Given the description of an element on the screen output the (x, y) to click on. 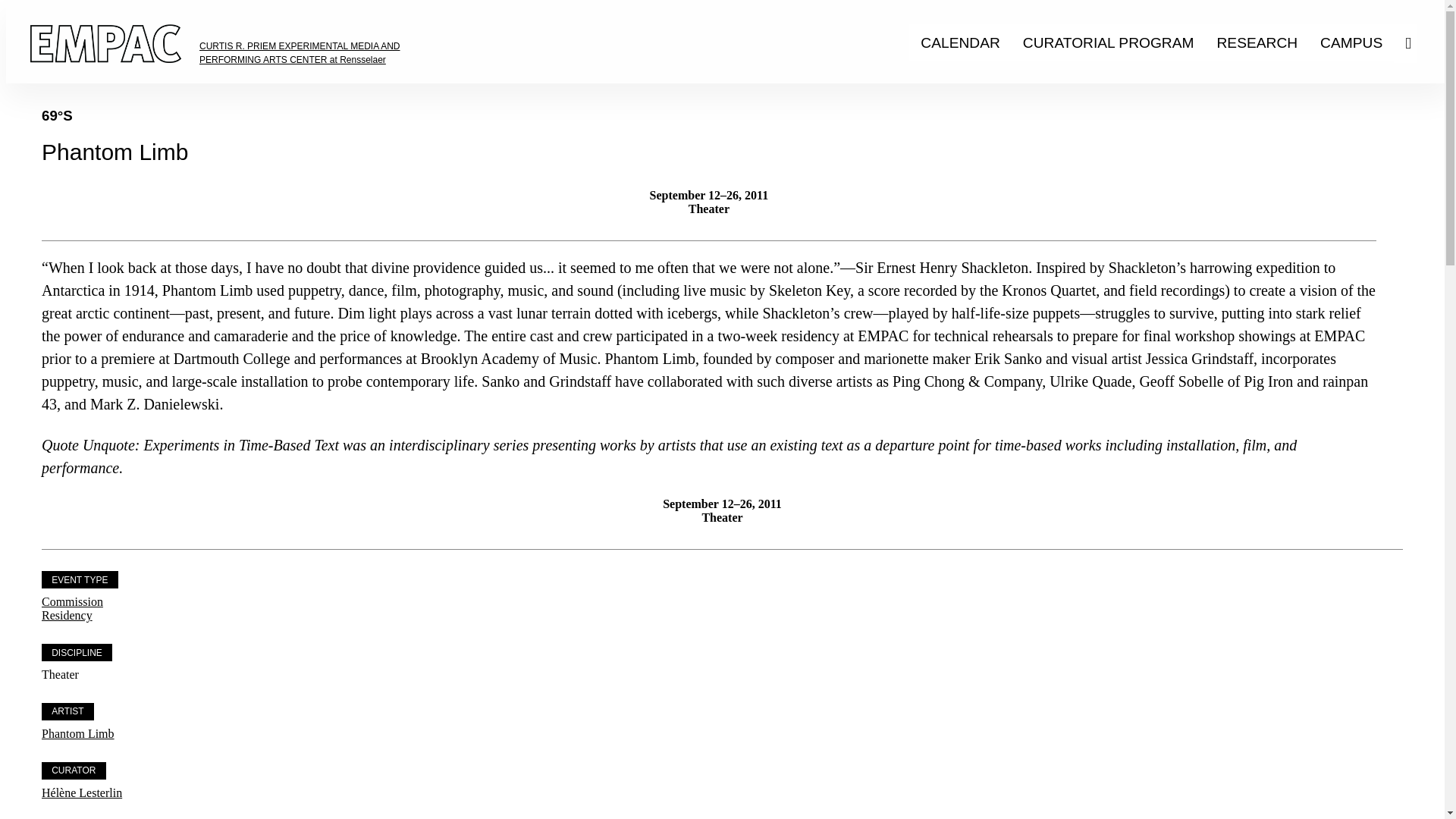
Phantom Limb (78, 733)
CURATORIAL PROGRAM (1108, 42)
RESEARCH (1256, 42)
About the curated program at EMPAC (1108, 42)
Residency (67, 615)
Commission (72, 601)
Home (92, 82)
CALENDAR (959, 42)
CAMPUS (1350, 42)
